Given the description of an element on the screen output the (x, y) to click on. 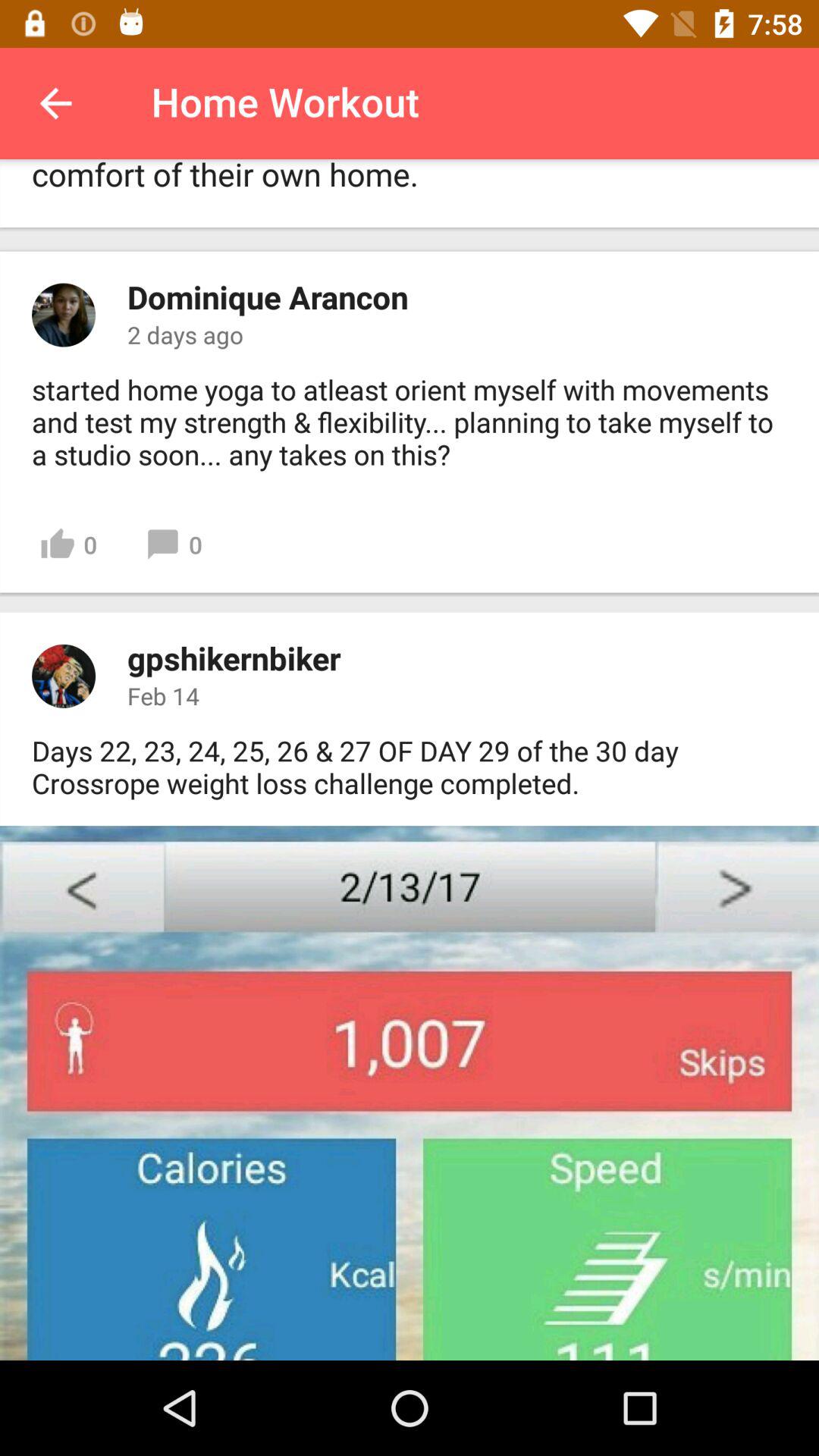
go to next (409, 1092)
